Given the description of an element on the screen output the (x, y) to click on. 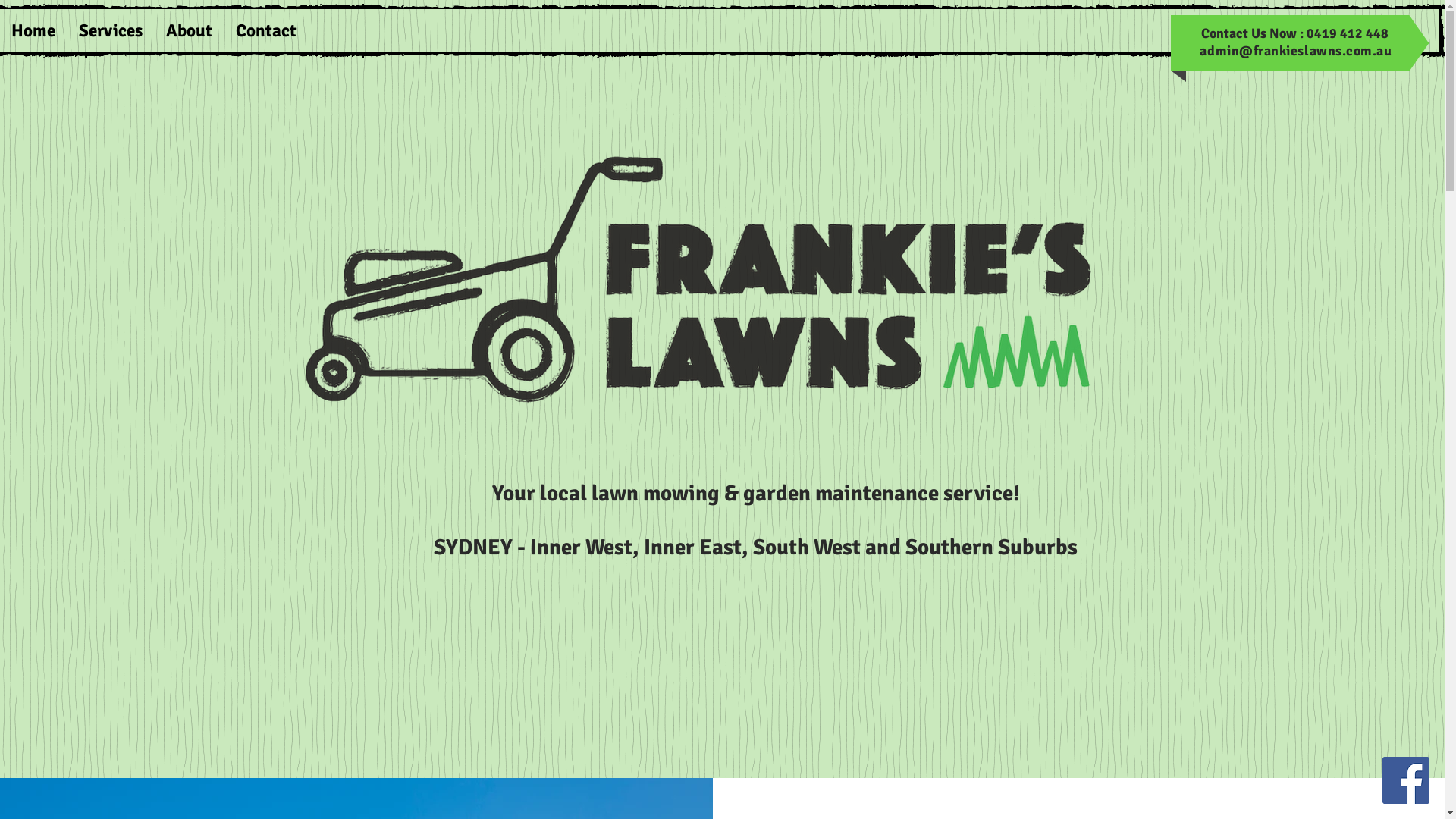
TWIPLA (Visitor Analytics) Element type: hover (728, 312)
admin@frankieslawns.com.au Element type: text (1295, 50)
Home Element type: text (33, 30)
About Element type: text (188, 30)
Services Element type: text (109, 30)
Contact Element type: text (265, 30)
